Given the description of an element on the screen output the (x, y) to click on. 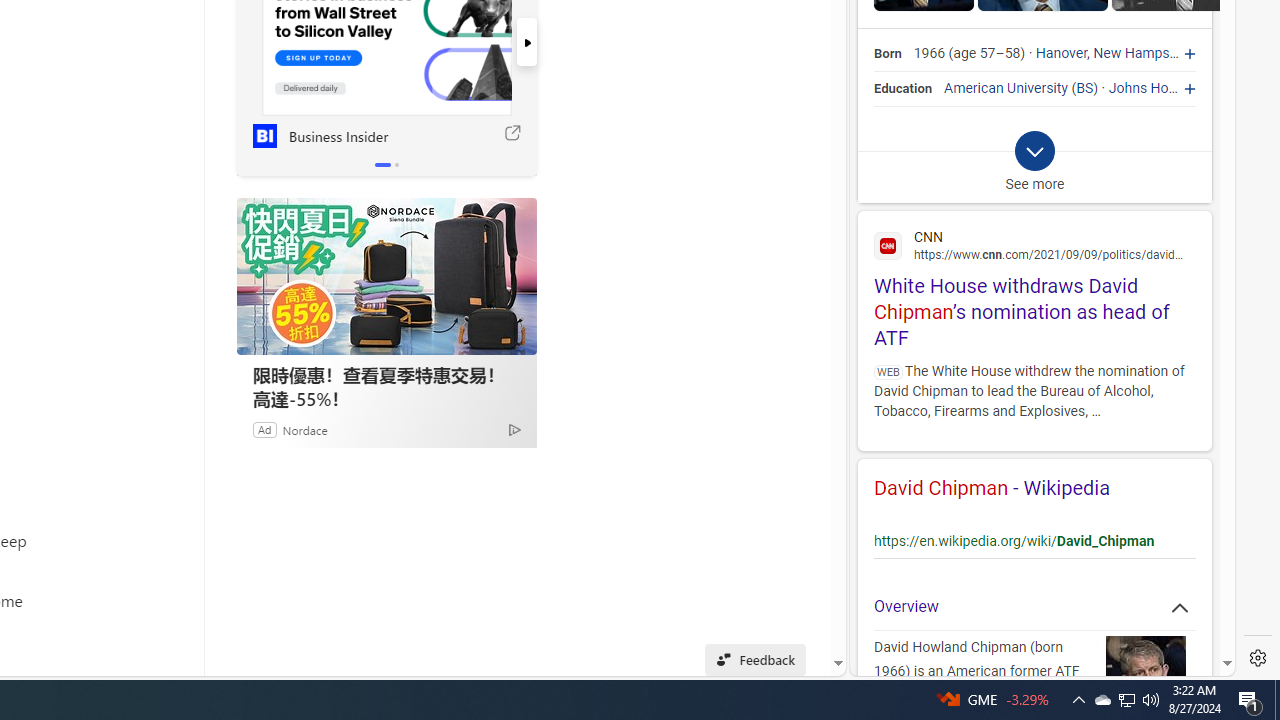
next (526, 42)
New Hampshire (1142, 53)
Business Insider (264, 135)
Born (888, 53)
Overview (1034, 606)
American University (1005, 88)
Class: b_exp_chevron_svg b_expmob_chev (1034, 151)
Johns Hopkins University (1187, 88)
